Given the description of an element on the screen output the (x, y) to click on. 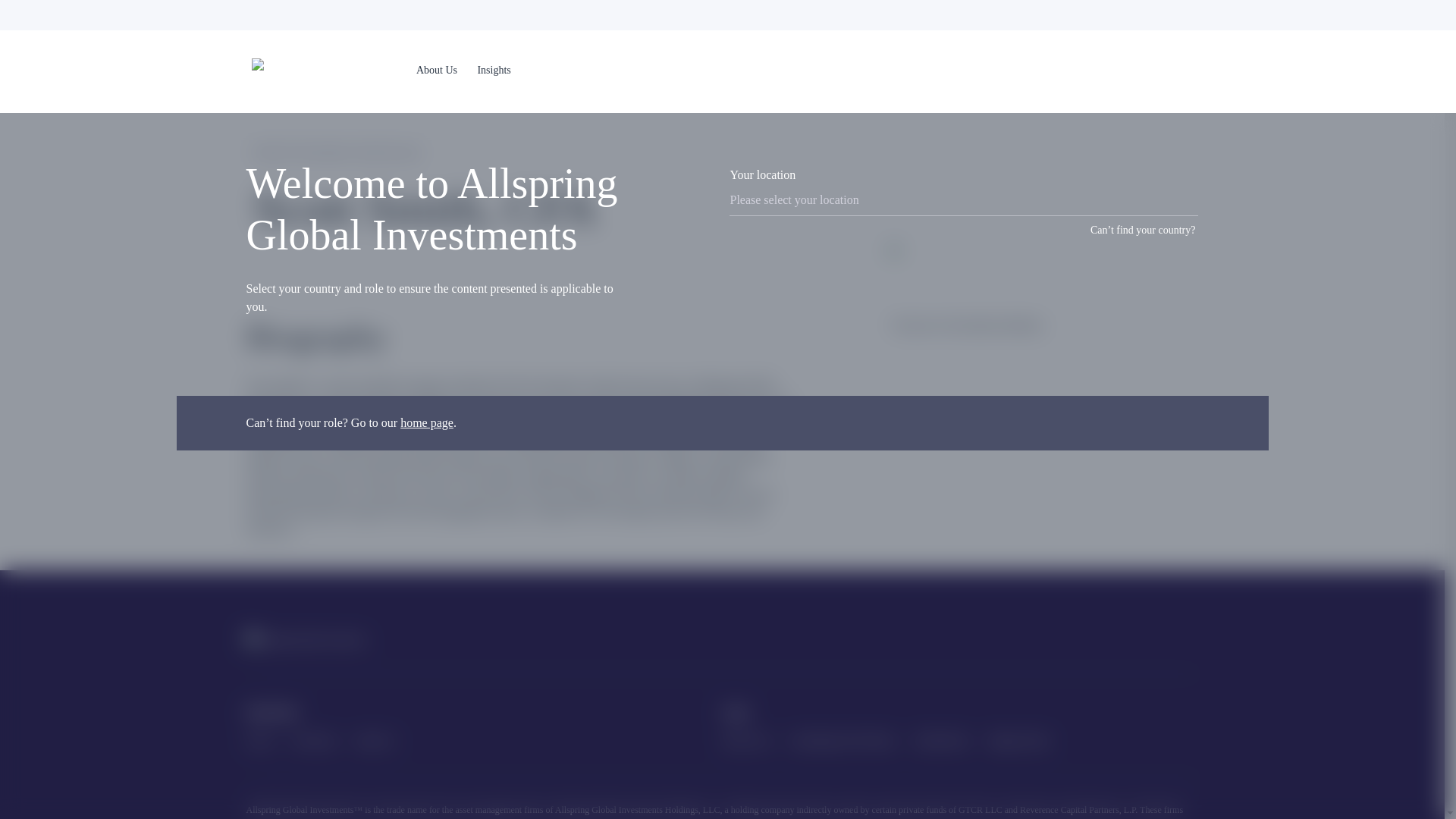
About Us (437, 71)
Insights (494, 69)
Contact Us (373, 740)
About Us (432, 71)
Insights (494, 71)
About Us (436, 69)
Luxembourg UCITS Policies (842, 740)
Careers (259, 740)
Podcast on Spotify (1146, 639)
Terms of Use (746, 740)
Insights (493, 71)
Instagram (1061, 639)
Allspring Global Investments (305, 640)
Please select your location (963, 200)
LinkedIn (1018, 639)
